Given the description of an element on the screen output the (x, y) to click on. 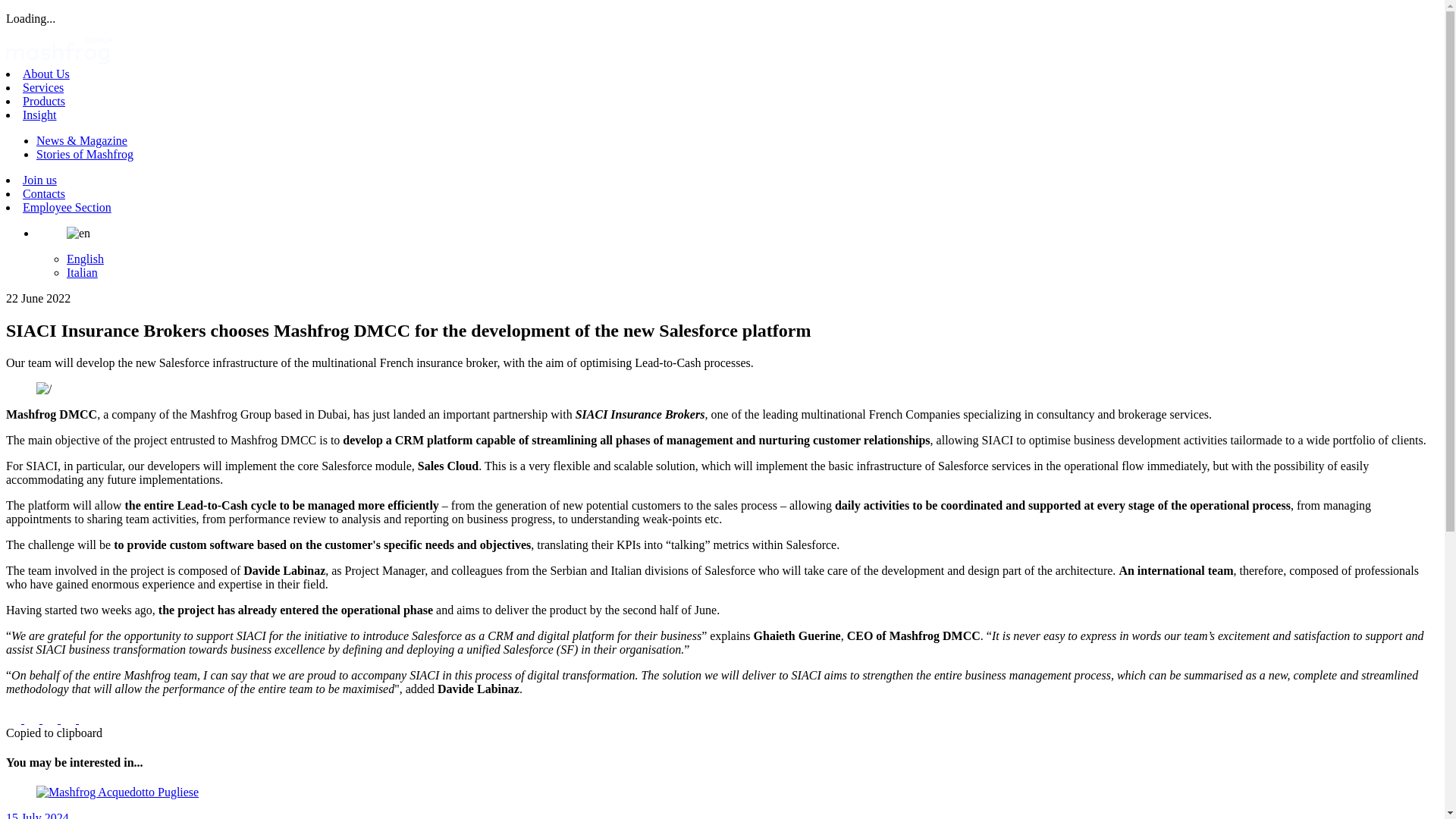
Join us (39, 179)
English (84, 258)
About Us (46, 73)
Products (44, 101)
Italian (81, 272)
Share to Facebook (14, 718)
Share to Linkedin (51, 718)
Employee Section (67, 206)
Contacts (44, 193)
Share to E-mail (69, 718)
Insight (39, 114)
Share to Twitter (33, 718)
Services (43, 87)
Stories of Mashfrog (84, 154)
